Given the description of an element on the screen output the (x, y) to click on. 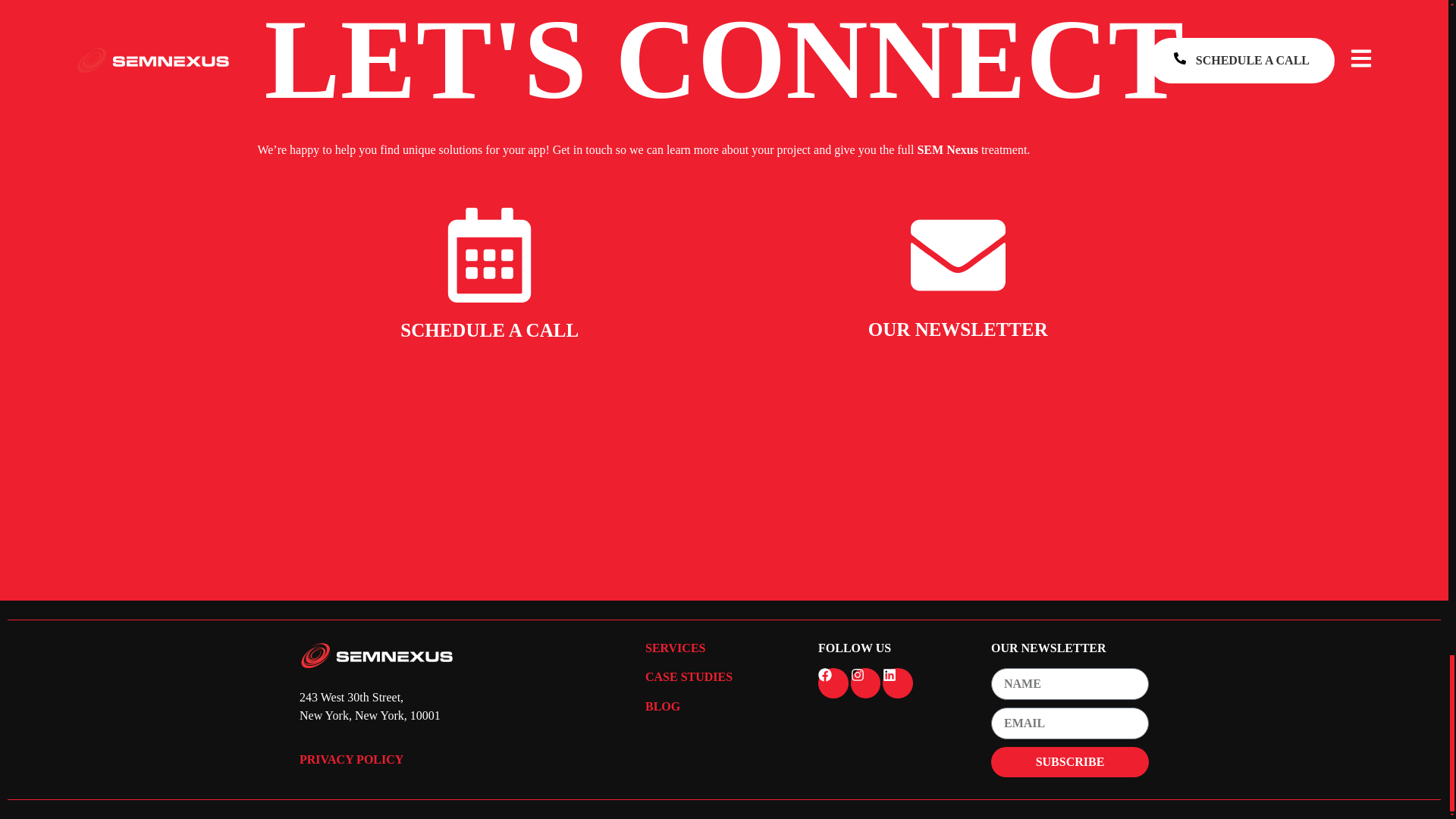
PRIVACY POLICY (351, 758)
SUBSCRIBE (1069, 761)
SERVICES (674, 647)
SCHEDULE A CALL (489, 330)
OUR NEWSLETTER (957, 329)
BLOG (662, 706)
CASE STUDIES (688, 676)
